Given the description of an element on the screen output the (x, y) to click on. 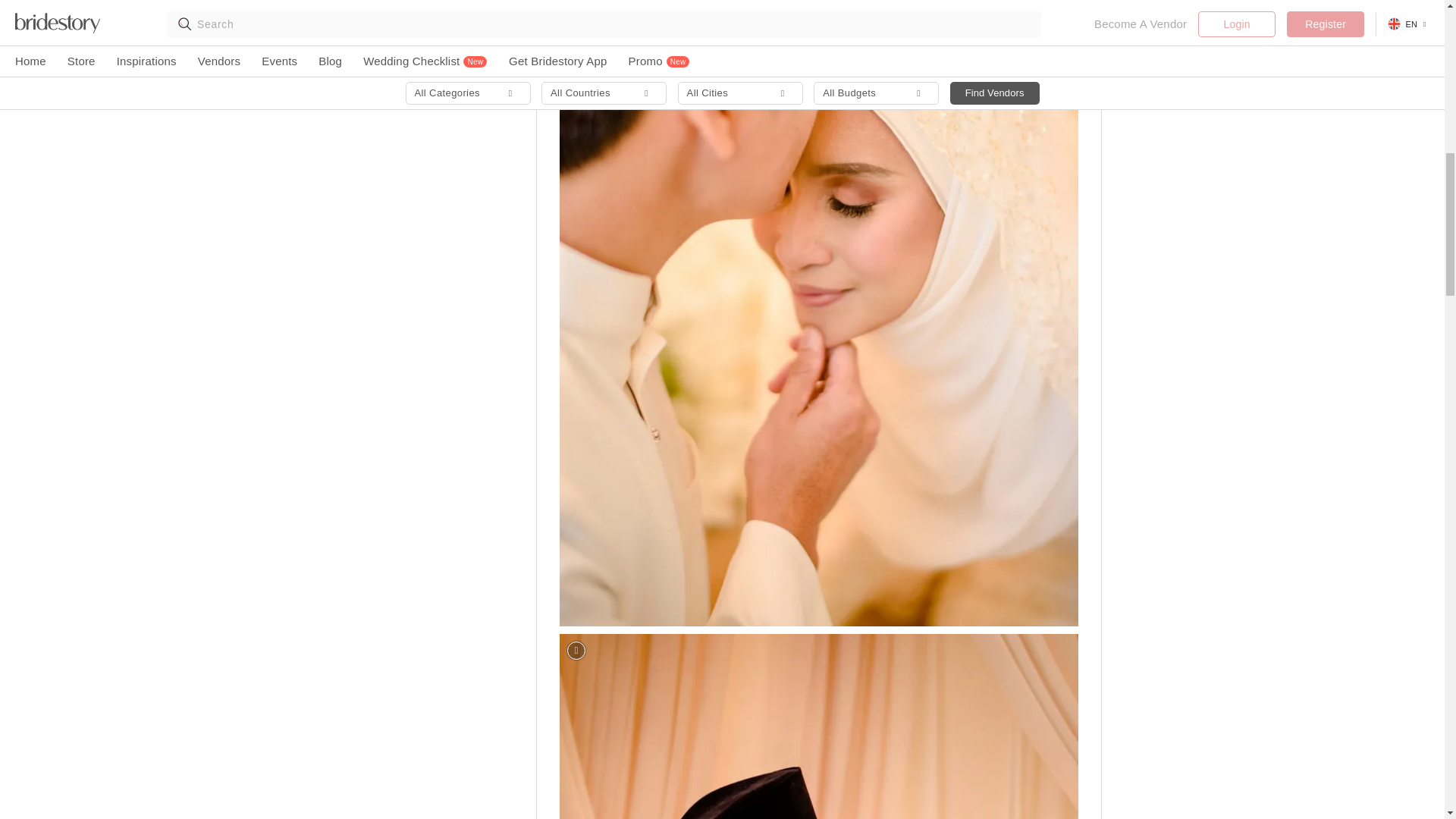
Paradigma by Hafizudin hamdan photography - 003 (818, 726)
